Given the description of an element on the screen output the (x, y) to click on. 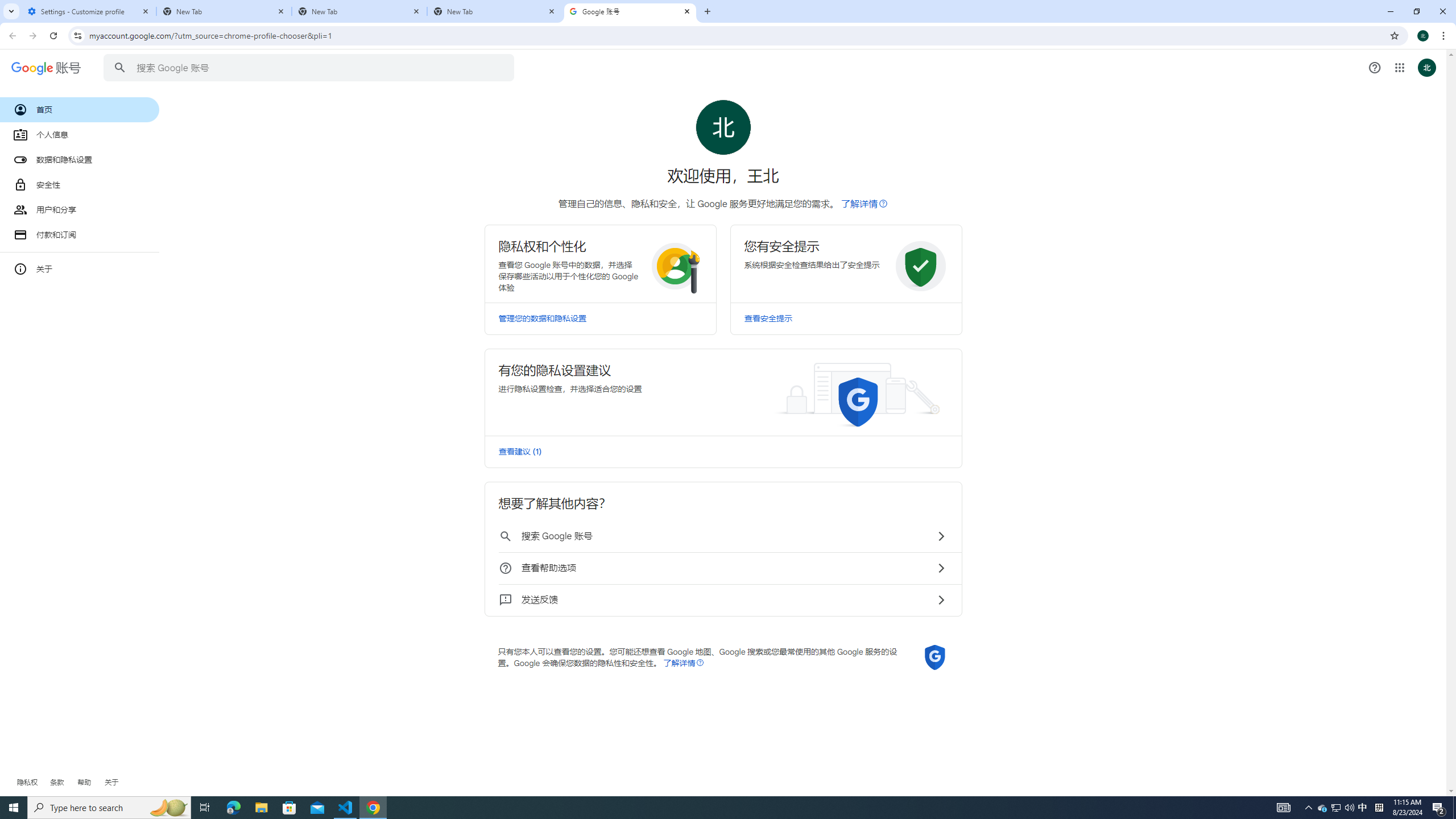
Bookmark this tab (1393, 35)
System (6, 6)
Close (686, 11)
New Tab (224, 11)
New Tab (706, 11)
Restore (1416, 11)
